Given the description of an element on the screen output the (x, y) to click on. 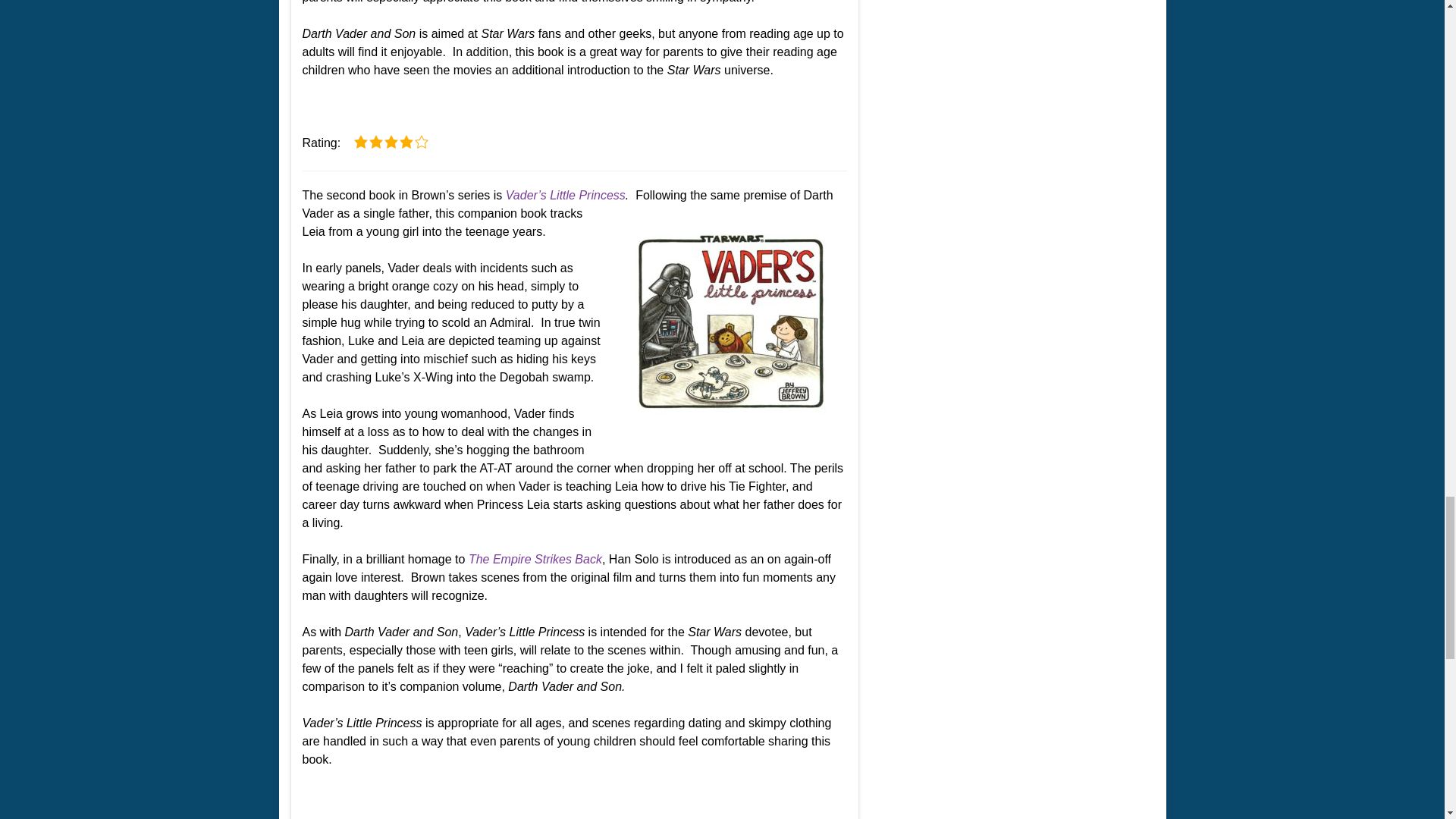
The Empire Strikes Back (535, 558)
